Given the description of an element on the screen output the (x, y) to click on. 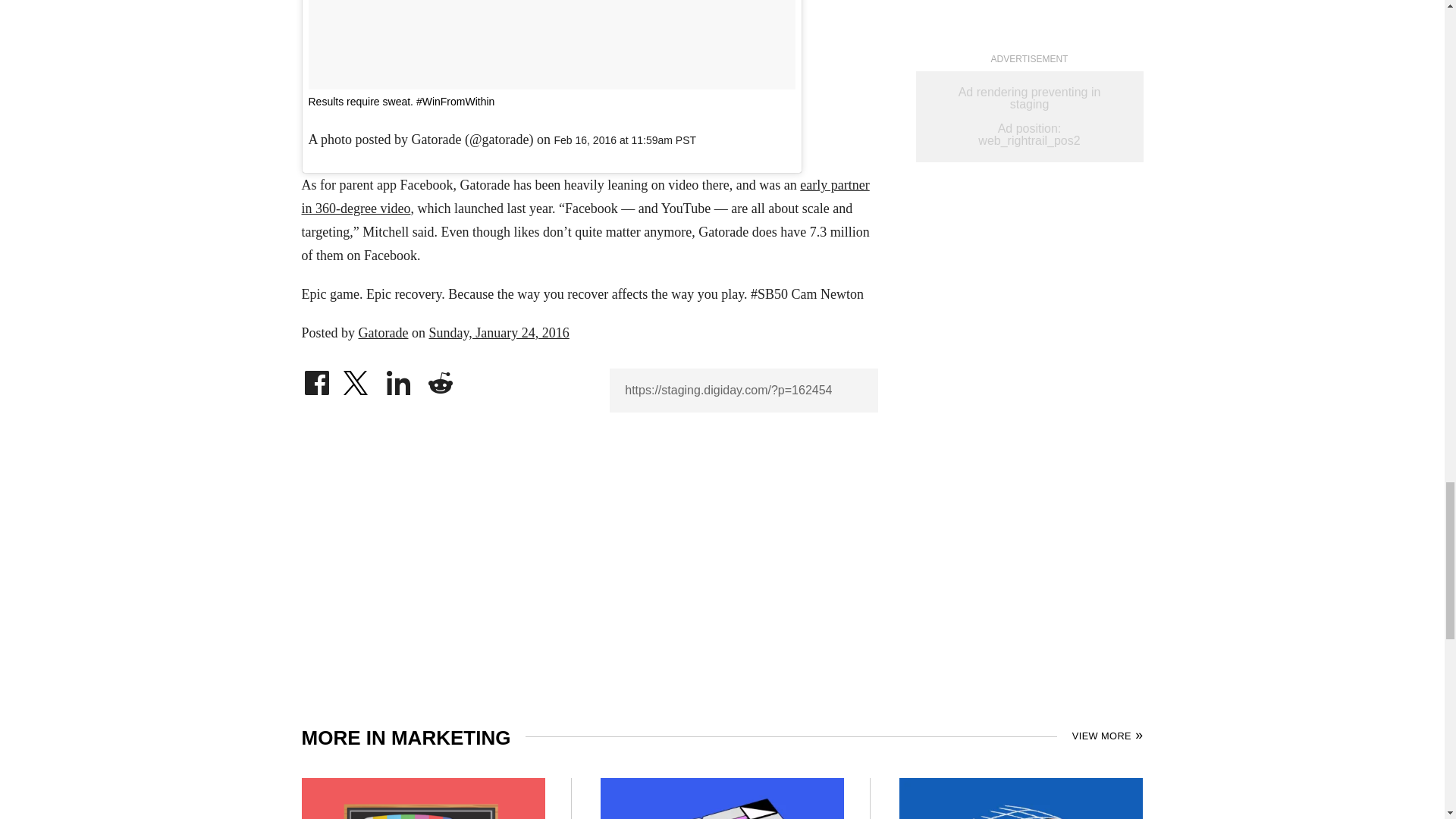
Share on Reddit (440, 378)
Share on Twitter (357, 378)
Share on LinkedIn (398, 378)
Share on Facebook (316, 378)
